Given the description of an element on the screen output the (x, y) to click on. 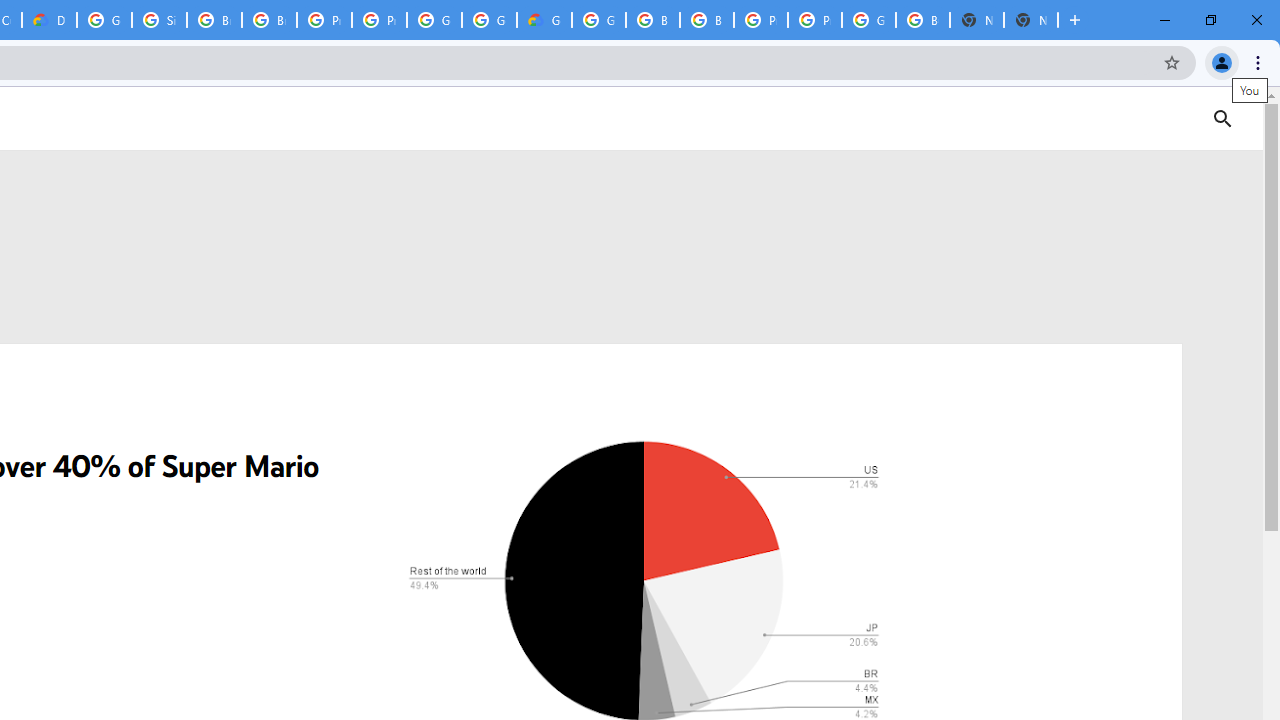
New Tab (1030, 20)
Browse Chrome as a guest - Computer - Google Chrome Help (652, 20)
Sign in - Google Accounts (158, 20)
Google Cloud Platform (598, 20)
Google Cloud Platform (489, 20)
Browse Chrome as a guest - Computer - Google Chrome Help (213, 20)
Google Cloud Platform (434, 20)
